Given the description of an element on the screen output the (x, y) to click on. 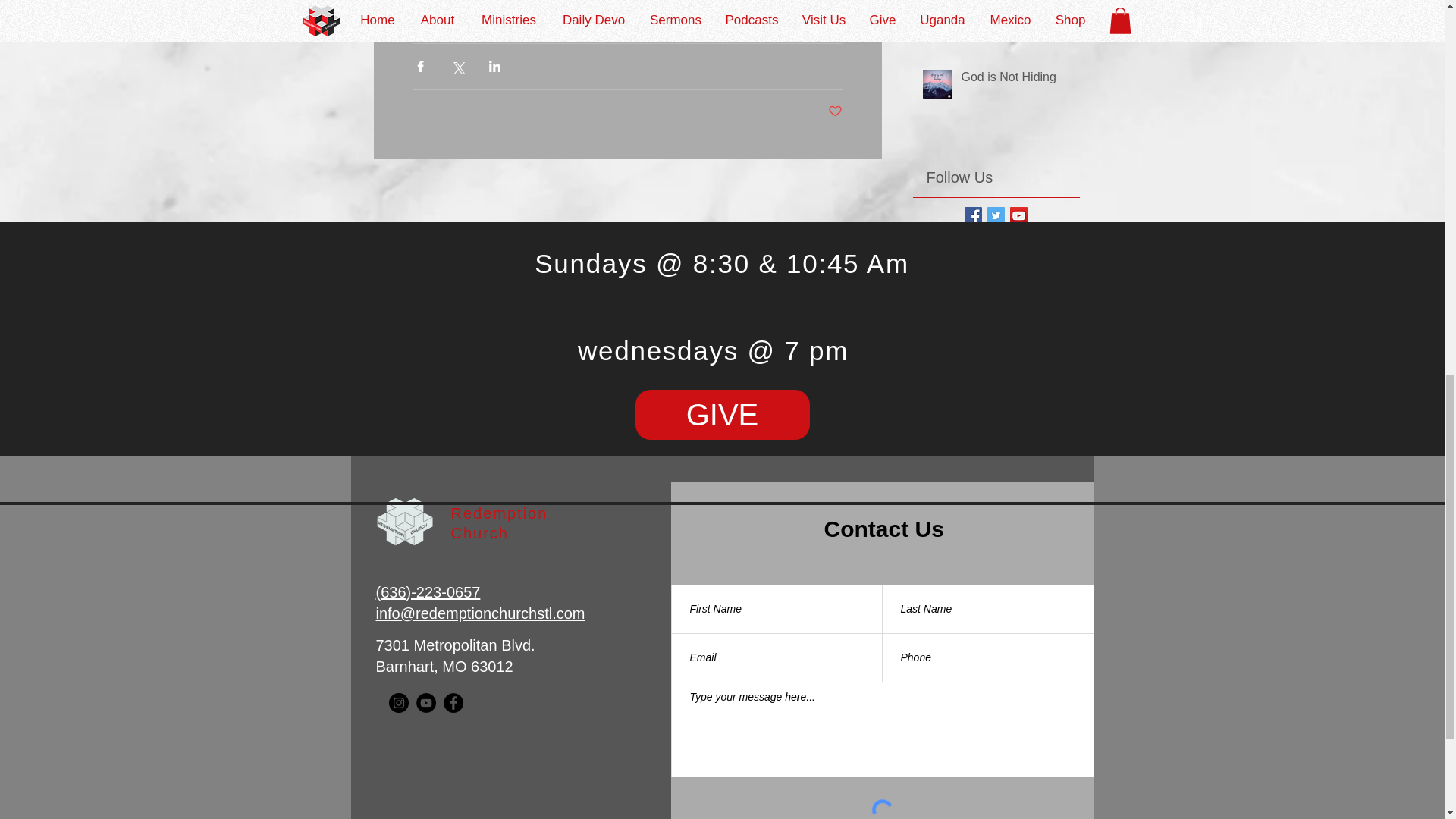
God is Not Hiding (1015, 79)
Write Your Vision (1015, 6)
romans 8:31 (446, 13)
Post not marked as liked (835, 111)
GIVE (721, 414)
run to jesus (520, 13)
